Given the description of an element on the screen output the (x, y) to click on. 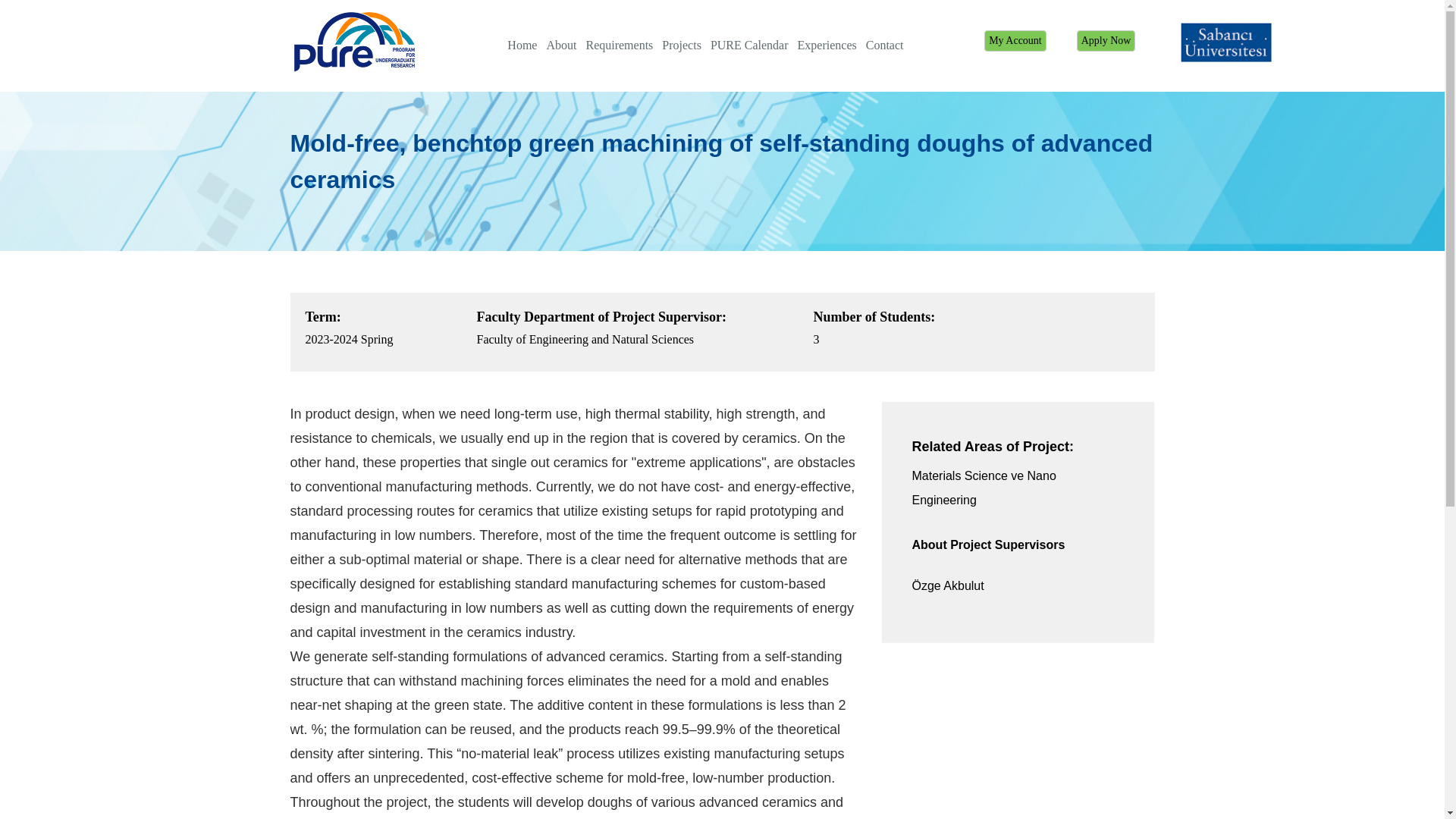
My Account (1015, 40)
Apply Now (1106, 40)
PURE Calendar (749, 45)
Experiences (827, 45)
Requirements (619, 45)
My Account (1015, 40)
Apply Now (1106, 40)
